Given the description of an element on the screen output the (x, y) to click on. 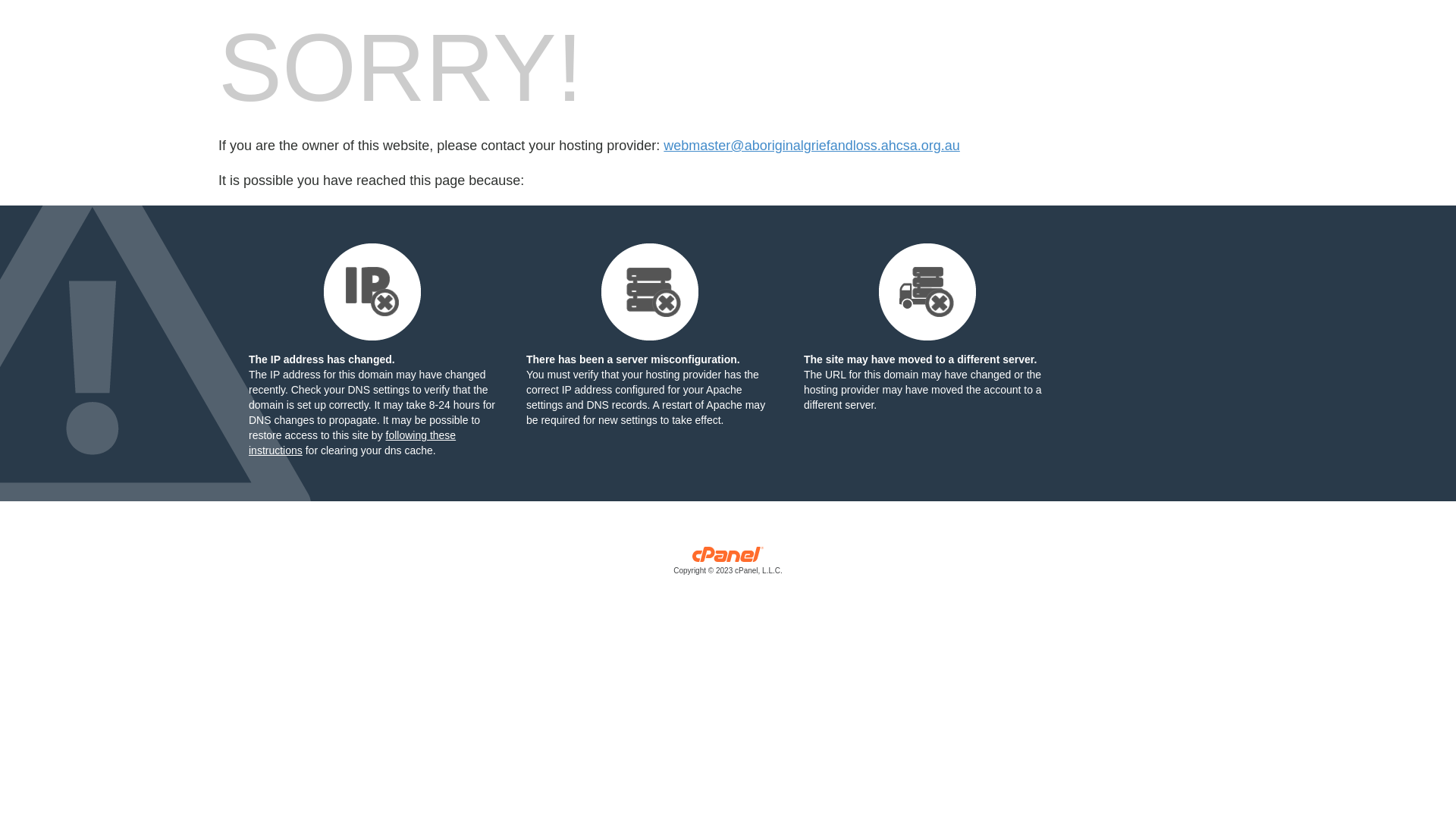
following these instructions Element type: text (351, 442)
webmaster@aboriginalgriefandloss.ahcsa.org.au Element type: text (811, 145)
